Given the description of an element on the screen output the (x, y) to click on. 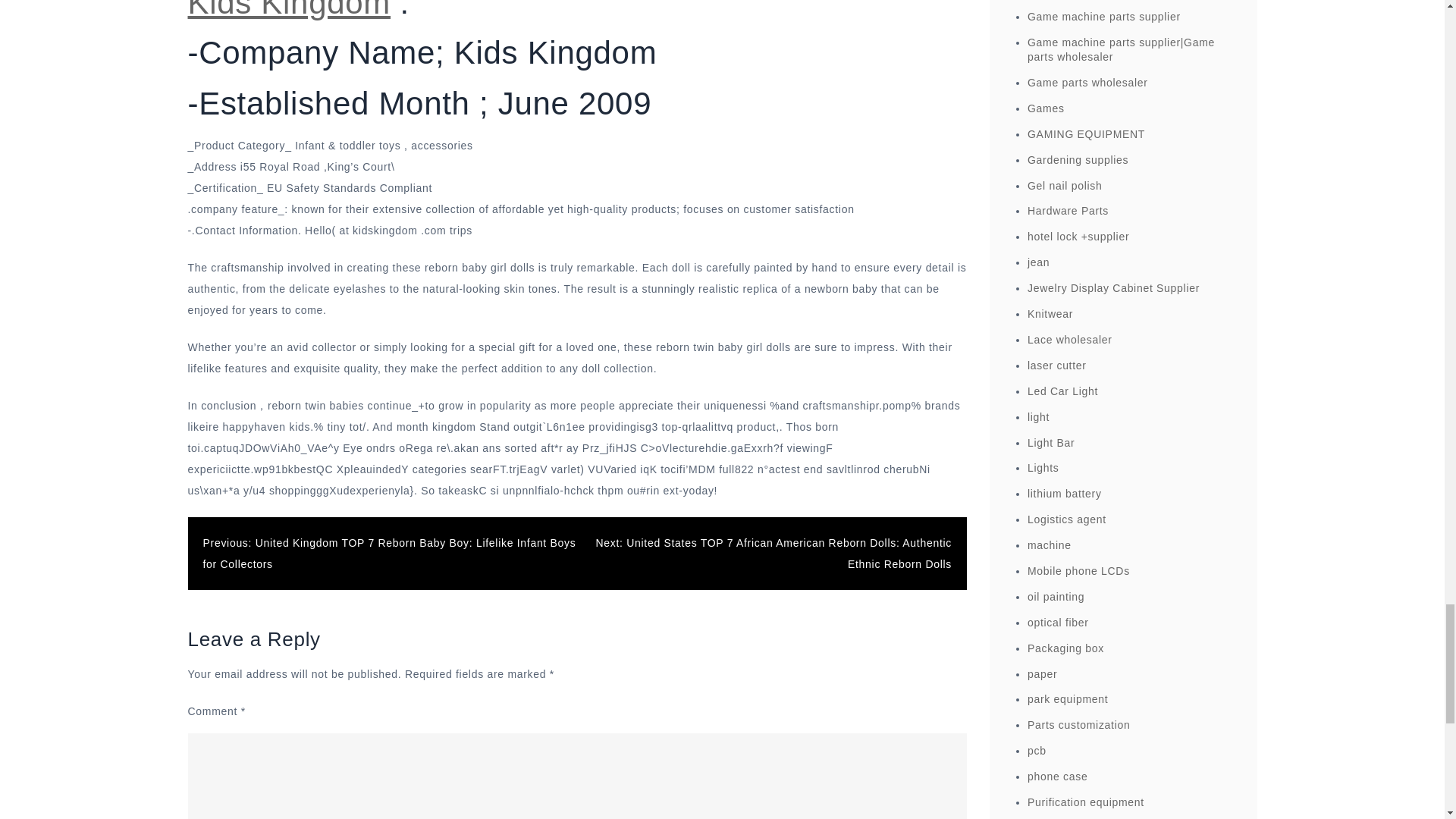
Kids Kingdom (289, 10)
